Given the description of an element on the screen output the (x, y) to click on. 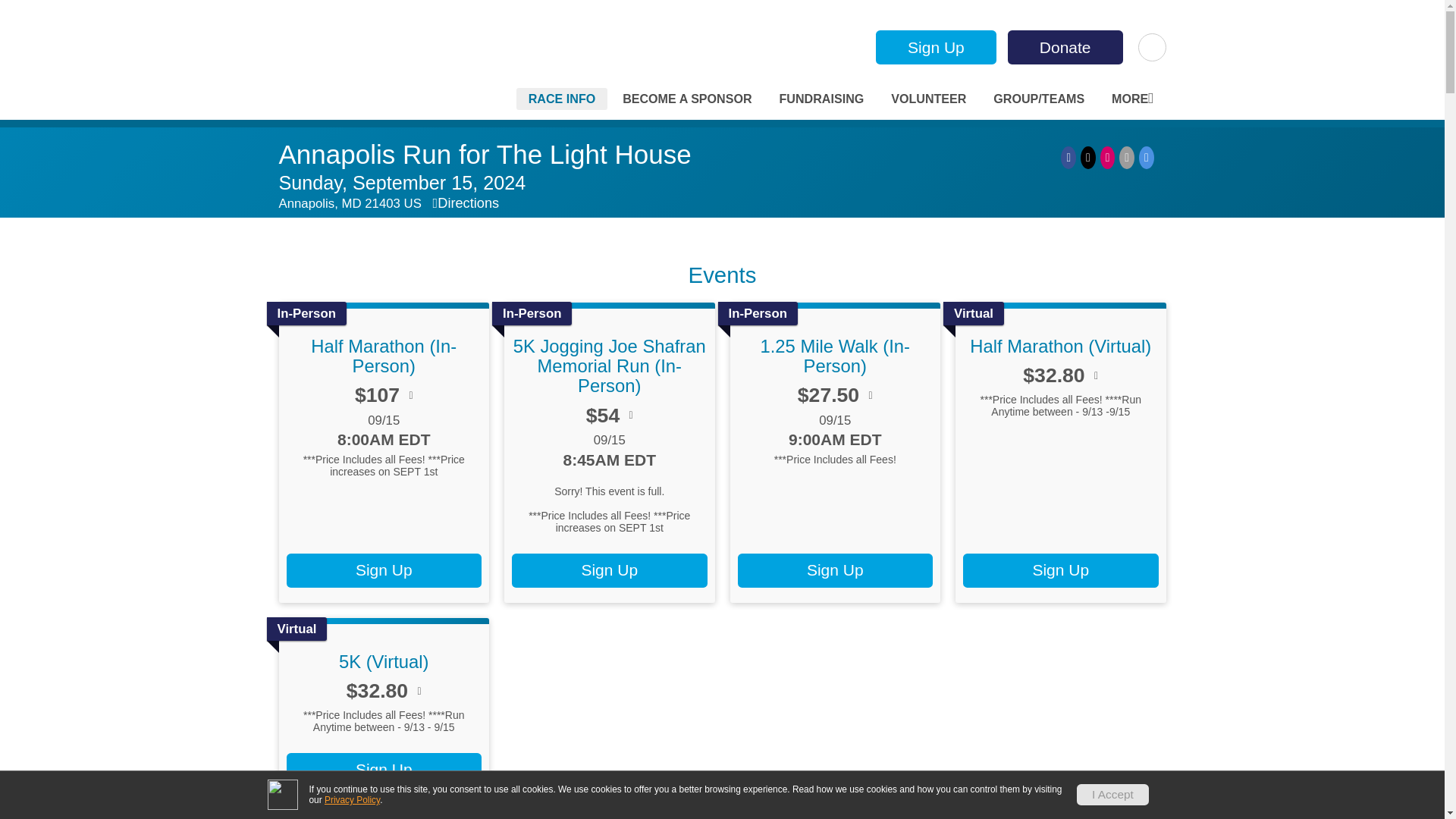
Donate (1064, 47)
RACE INFO (562, 98)
Sign Up (935, 47)
